Given the description of an element on the screen output the (x, y) to click on. 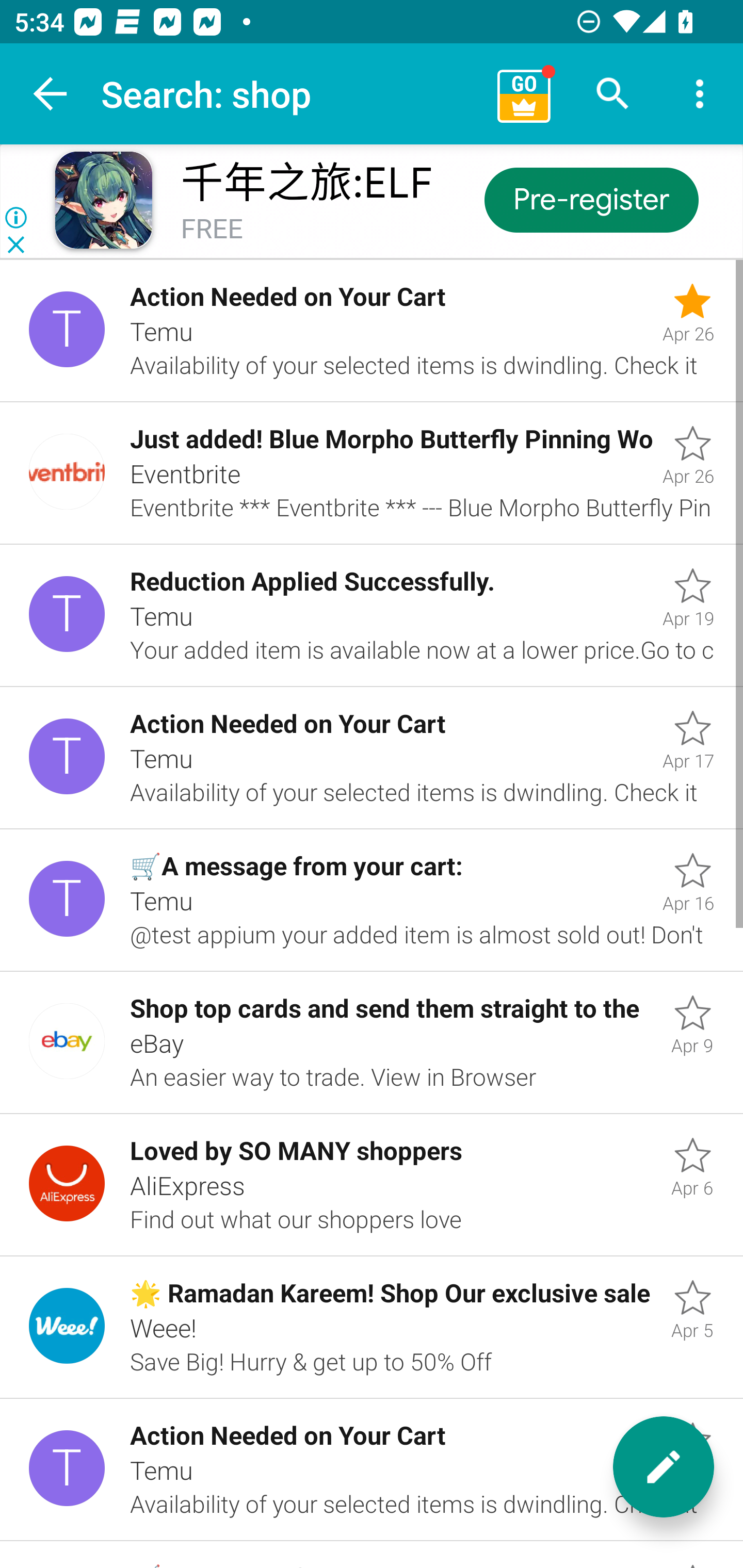
Navigate up (50, 93)
Search (612, 93)
More options (699, 93)
New message (663, 1466)
